Given the description of an element on the screen output the (x, y) to click on. 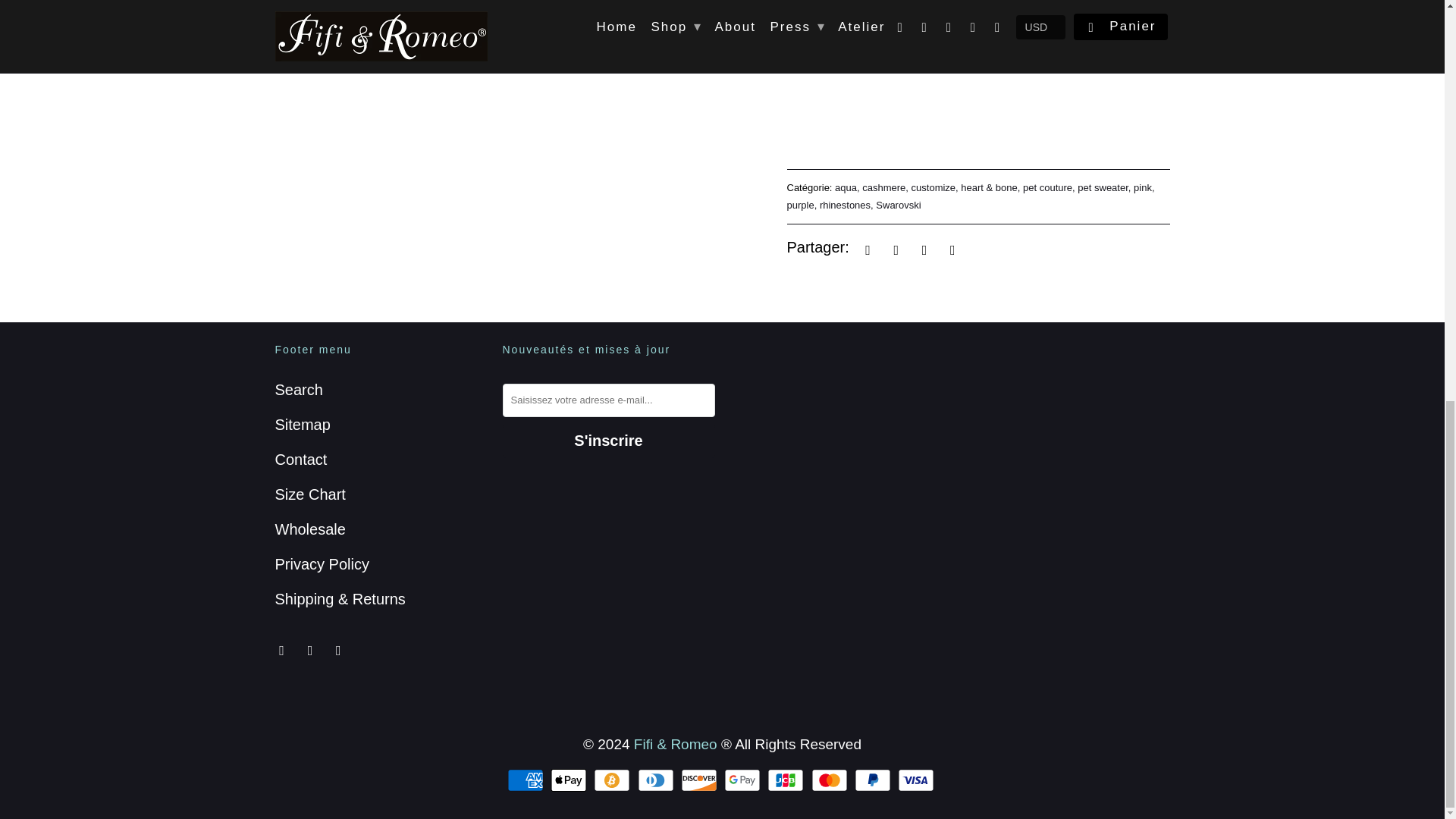
Discover (700, 780)
JCB (786, 780)
S'inscrire (608, 441)
American Express (526, 780)
Bitcoin (613, 780)
Mastercard (830, 780)
PayPal (873, 780)
Visa (917, 780)
Google Pay (742, 780)
Apple Pay (569, 780)
